Given the description of an element on the screen output the (x, y) to click on. 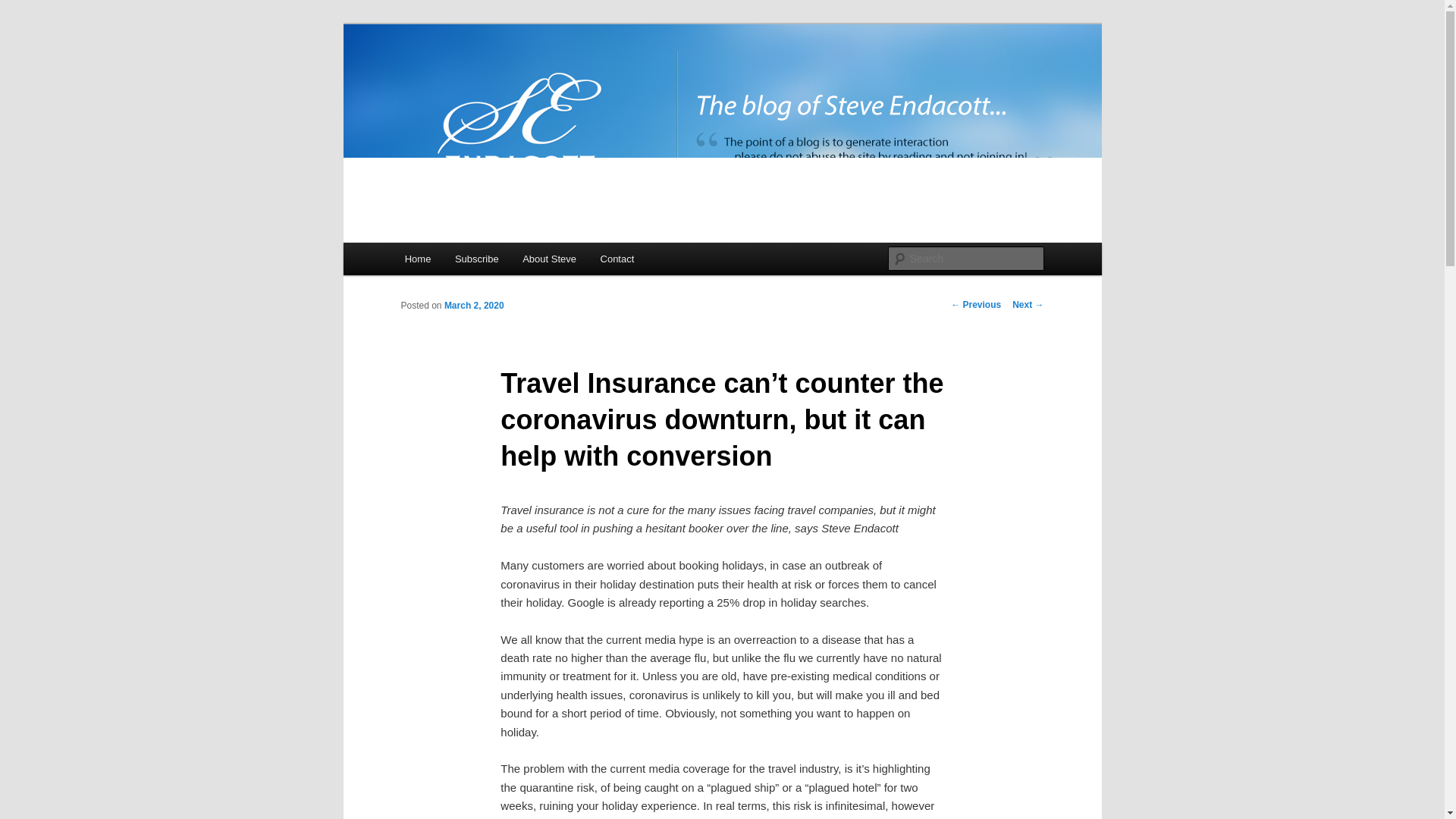
March 2, 2020 (473, 305)
Search (24, 8)
Subscribe (476, 258)
Skip to secondary content (479, 261)
Skip to primary content (472, 261)
Home (417, 258)
Steve Endacott Blog (510, 78)
About Steve (549, 258)
Skip to secondary content (479, 261)
Contact (617, 258)
